Given the description of an element on the screen output the (x, y) to click on. 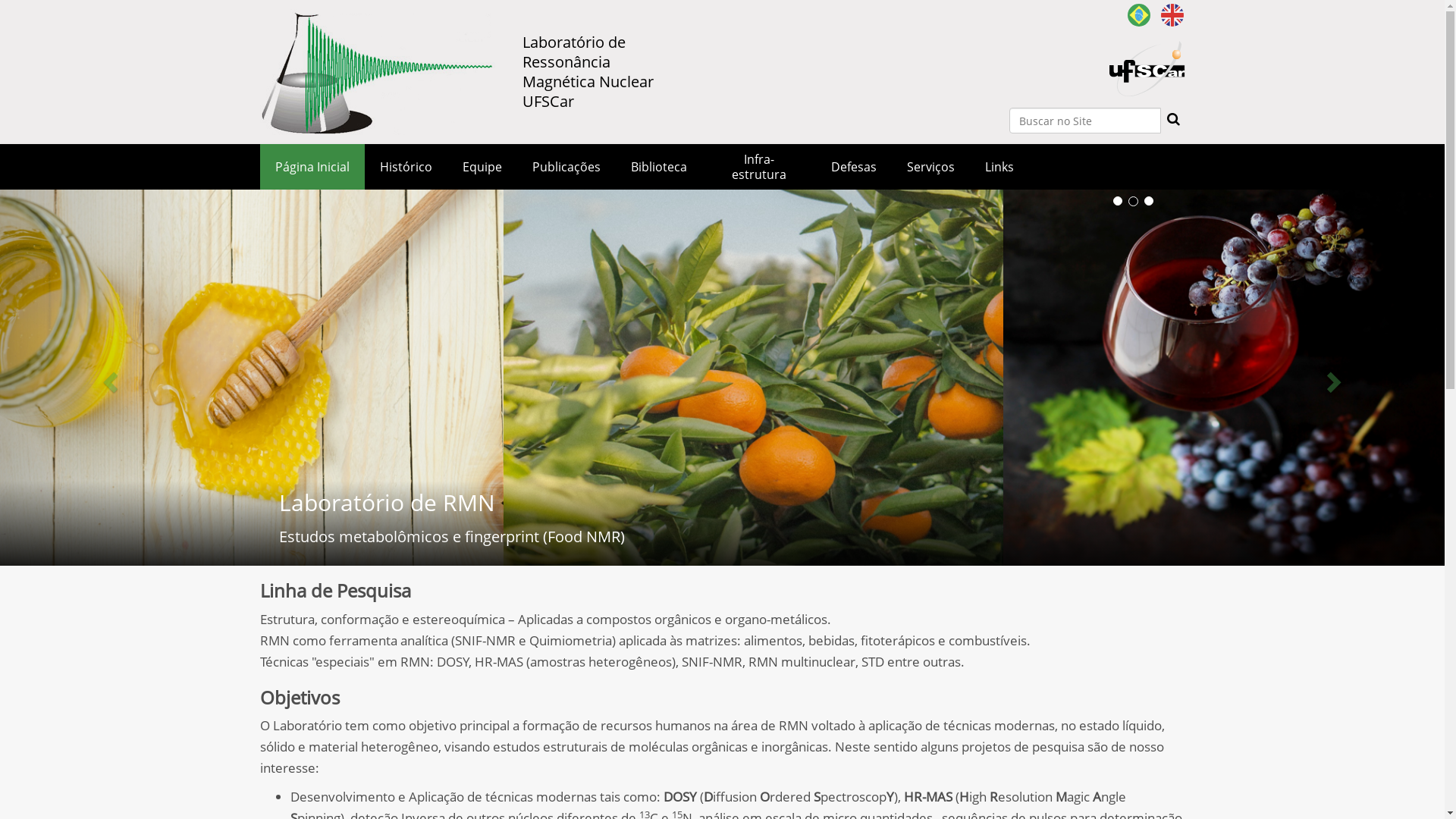
Defesas Element type: text (853, 166)
Biblioteca Element type: text (658, 166)
Next Element type: text (1335, 377)
Infra-estrutura Element type: text (758, 166)
Portal UFSCar Element type: hover (1146, 46)
Equipe Element type: text (482, 166)
Previous Element type: text (108, 377)
Buscar no Site Element type: hover (1084, 120)
English Element type: hover (1171, 14)
English Element type: hover (1171, 13)
Links Element type: text (998, 166)
